Given the description of an element on the screen output the (x, y) to click on. 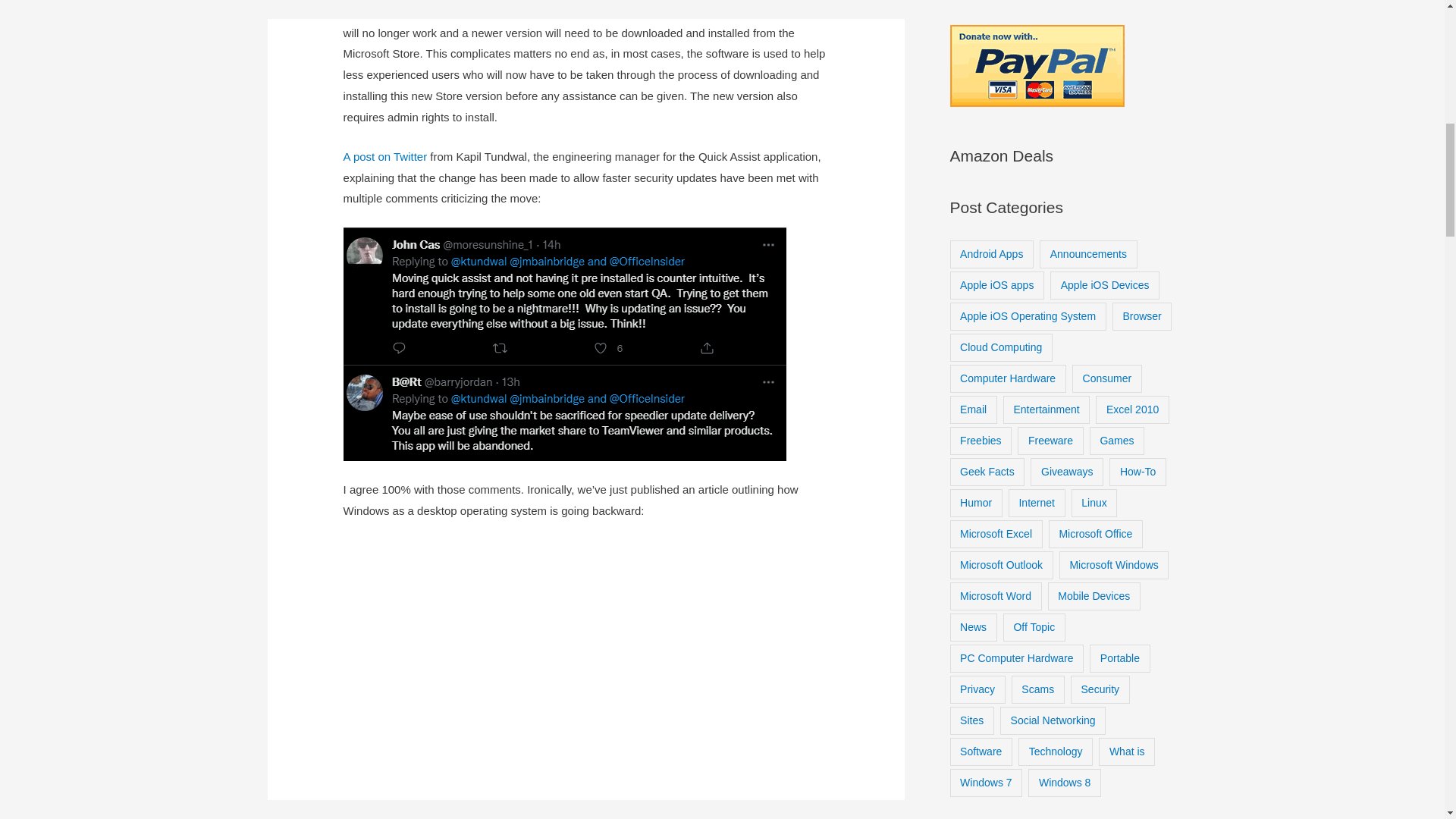
3rd party ad content (585, 660)
